Given the description of an element on the screen output the (x, y) to click on. 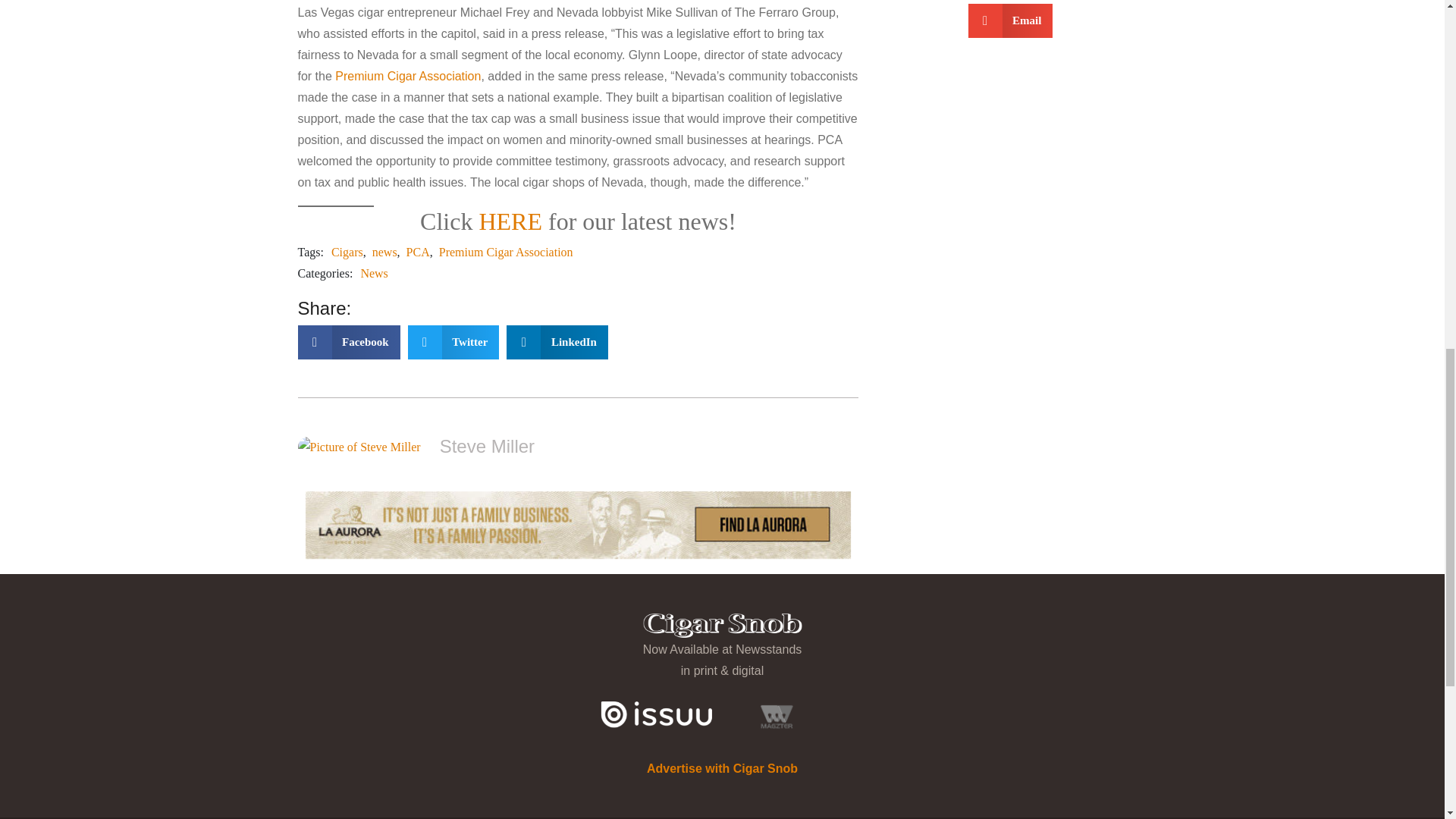
La Aurora Store Locator (577, 524)
